Given the description of an element on the screen output the (x, y) to click on. 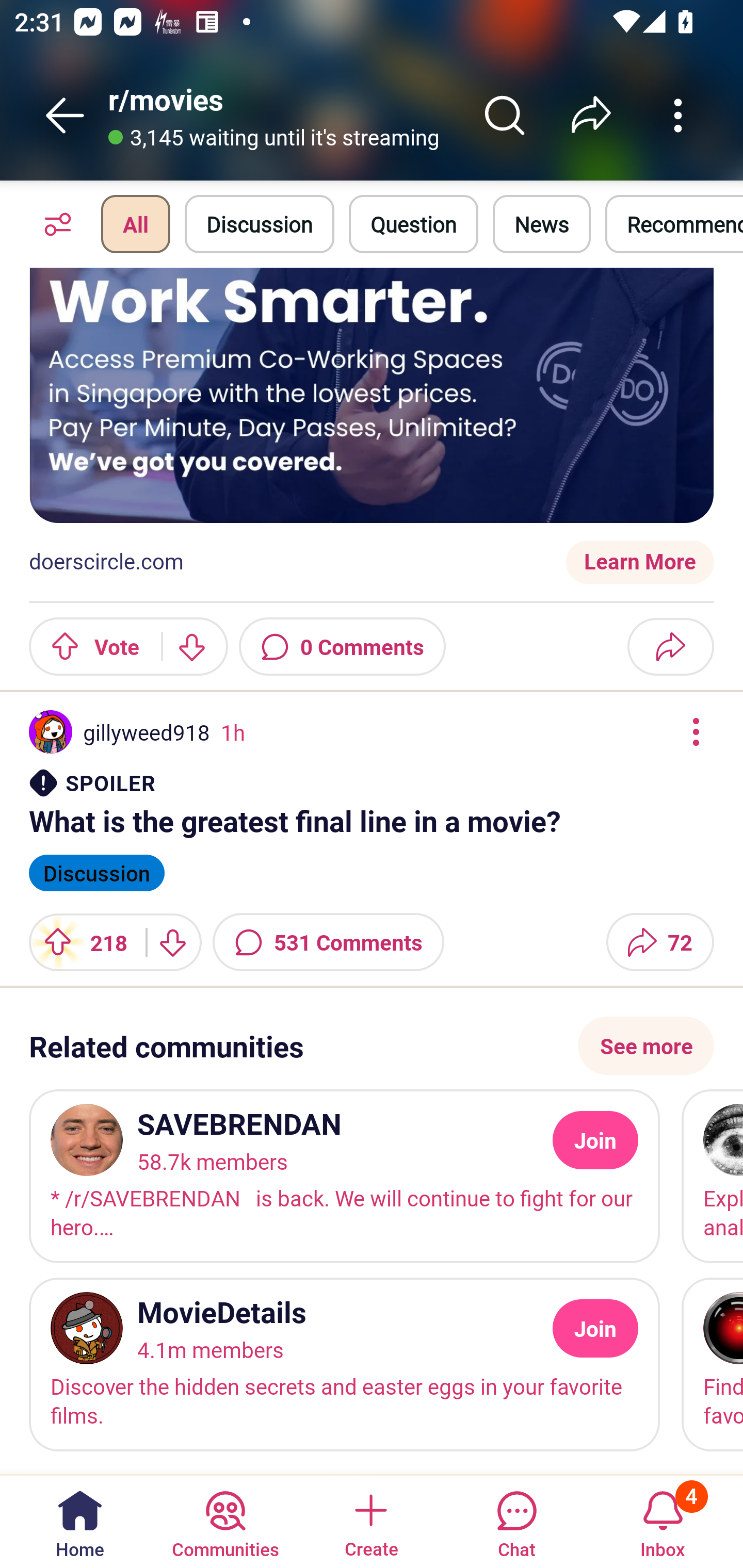
Back (64, 115)
Search r/﻿movies (504, 115)
Share r/﻿movies (591, 115)
More community actions (677, 115)
Feed Options (53, 224)
All (135, 224)
Discussion (259, 224)
Question (413, 224)
News (541, 224)
Recommendation (674, 224)
Discussion (96, 870)
Related communities See more (371, 1045)
See more (646, 1045)
Join (595, 1140)
Join (595, 1328)
Home (80, 1520)
Communities (225, 1520)
Create a post Create (370, 1520)
Chat (516, 1520)
Inbox, has 4 notifications 4 Inbox (662, 1520)
